Given the description of an element on the screen output the (x, y) to click on. 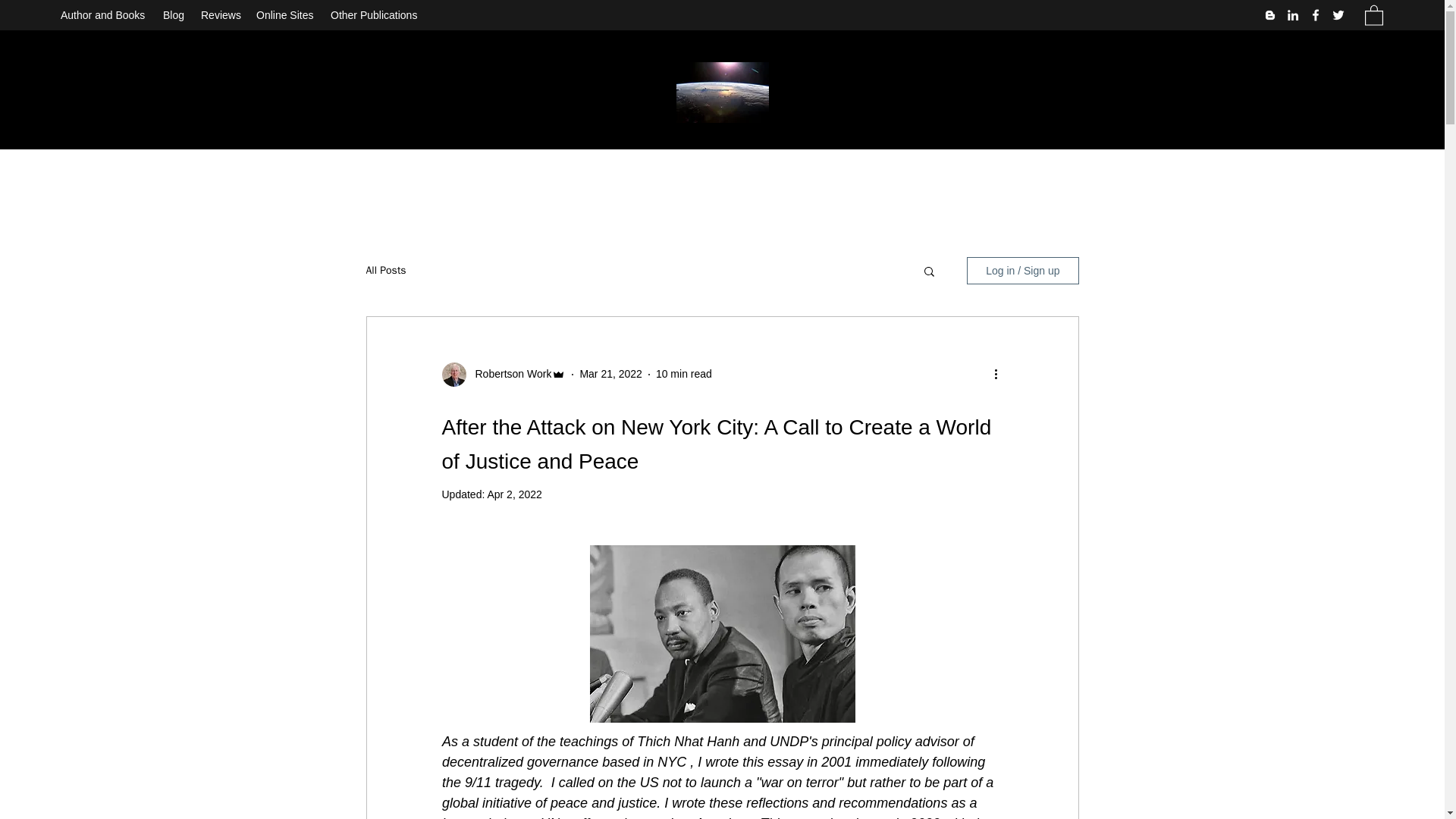
Blog (174, 15)
Apr 2, 2022 (513, 494)
10 min read (683, 373)
All Posts (385, 270)
Reviews (220, 15)
Author and Books (103, 15)
Online Sites (285, 15)
Other Publications (376, 15)
Mar 21, 2022 (610, 373)
Robertson Work (508, 374)
